Given the description of an element on the screen output the (x, y) to click on. 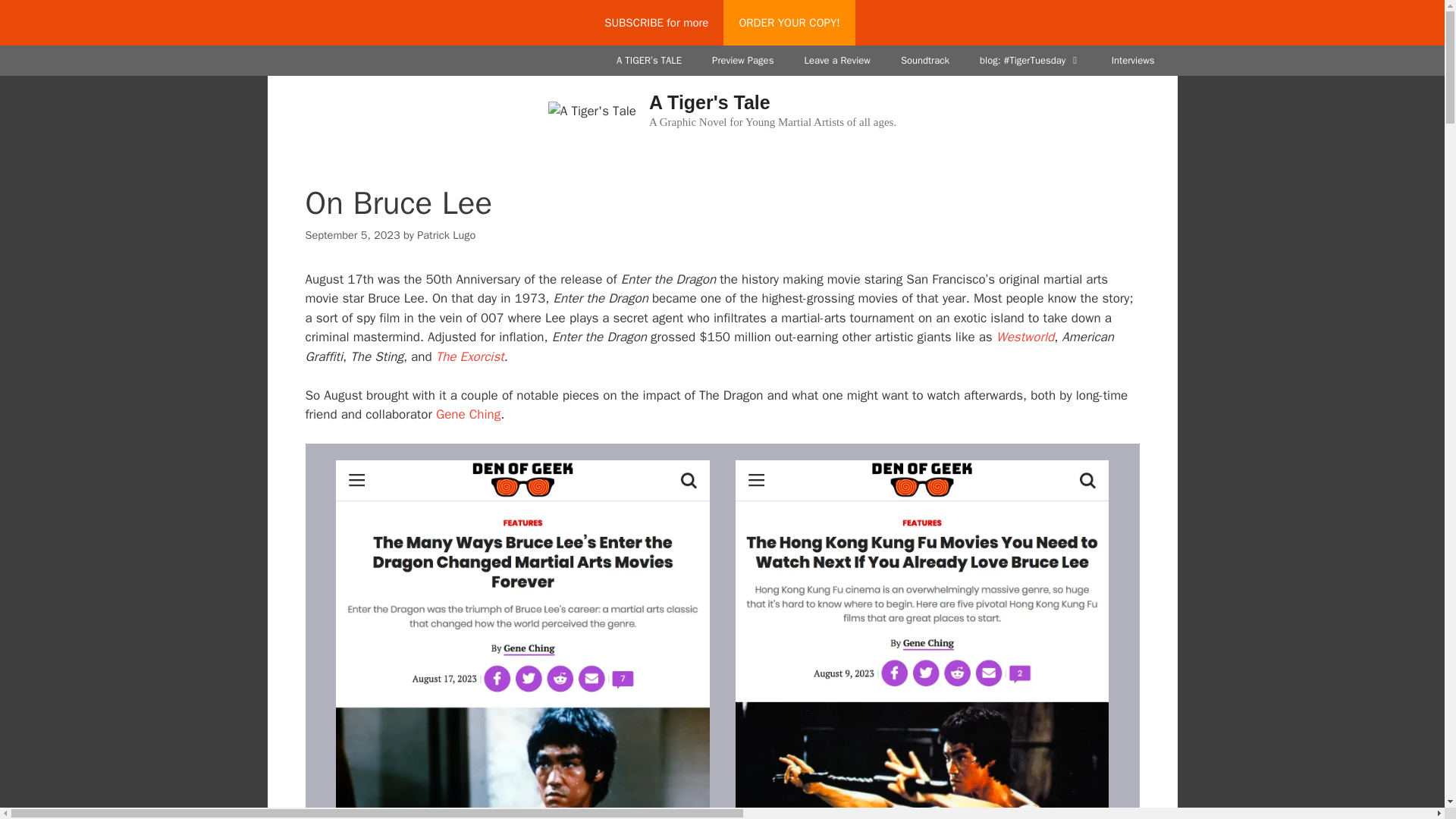
Westworld (1024, 336)
View all posts by Patrick Lugo (446, 234)
A Tiger's Tale (709, 102)
Gene Ching (467, 414)
A Tiger's Tale (592, 111)
Patrick Lugo (446, 234)
Preview Pages (743, 60)
Soundtrack (924, 60)
ORDER YOUR COPY! (788, 22)
A Tiger's Tale (592, 109)
